Given the description of an element on the screen output the (x, y) to click on. 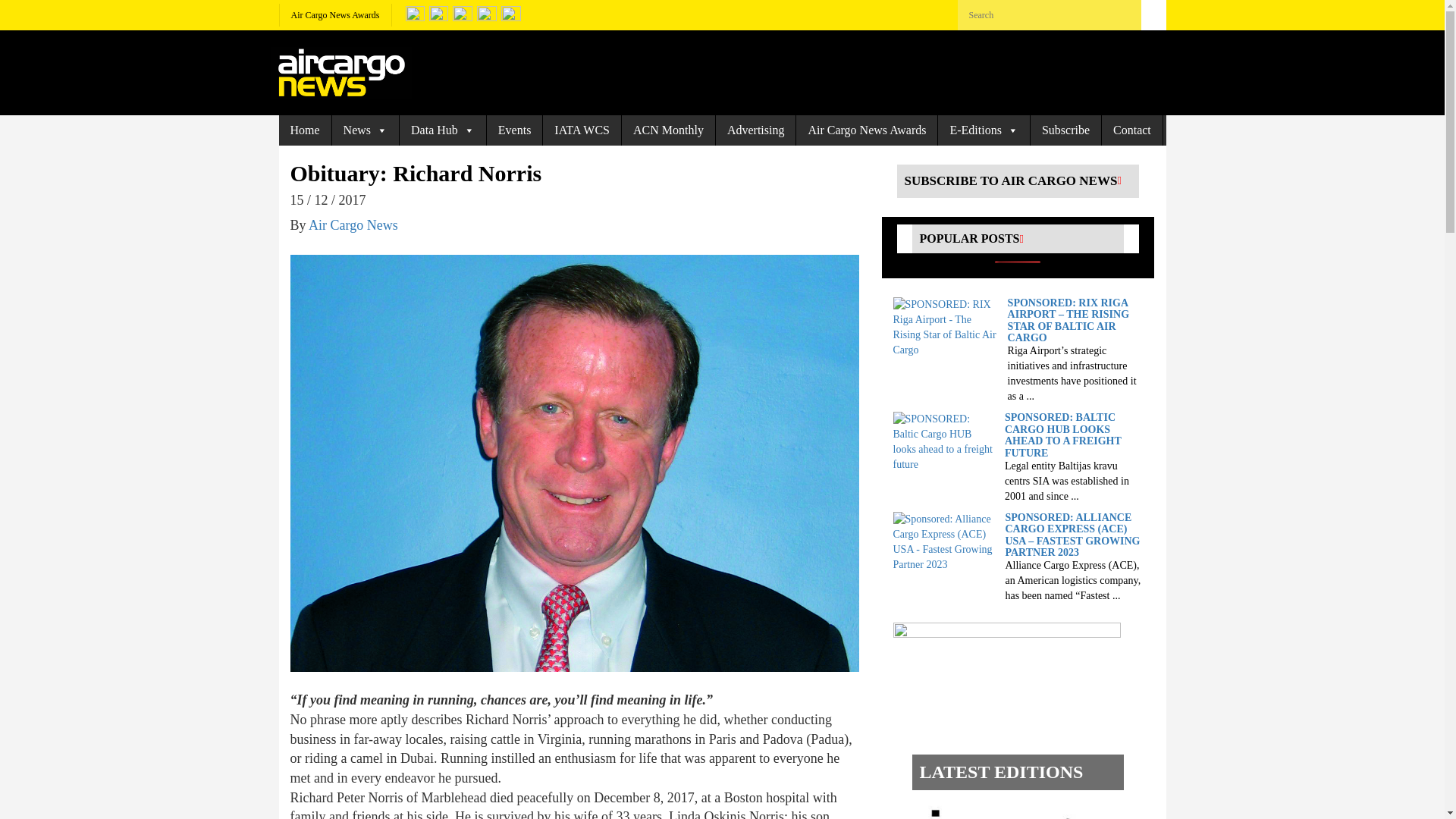
SPONSORED: Baltic Cargo HUB looks ahead to a freight future (945, 441)
Air Cargo News Issue 906 -Summer 2024 (1002, 810)
Home (305, 130)
Air Cargo News Awards (335, 14)
News (364, 130)
